Given the description of an element on the screen output the (x, y) to click on. 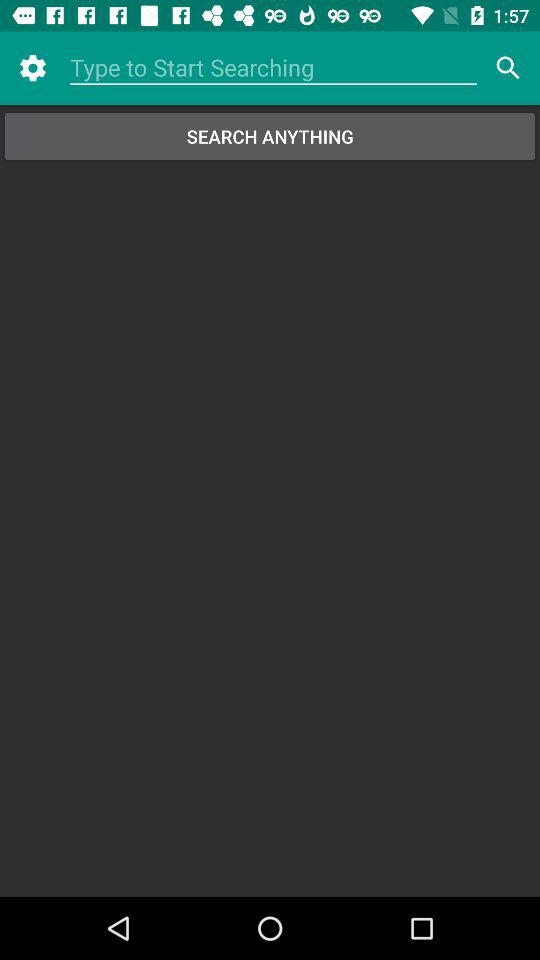
search box (273, 67)
